Given the description of an element on the screen output the (x, y) to click on. 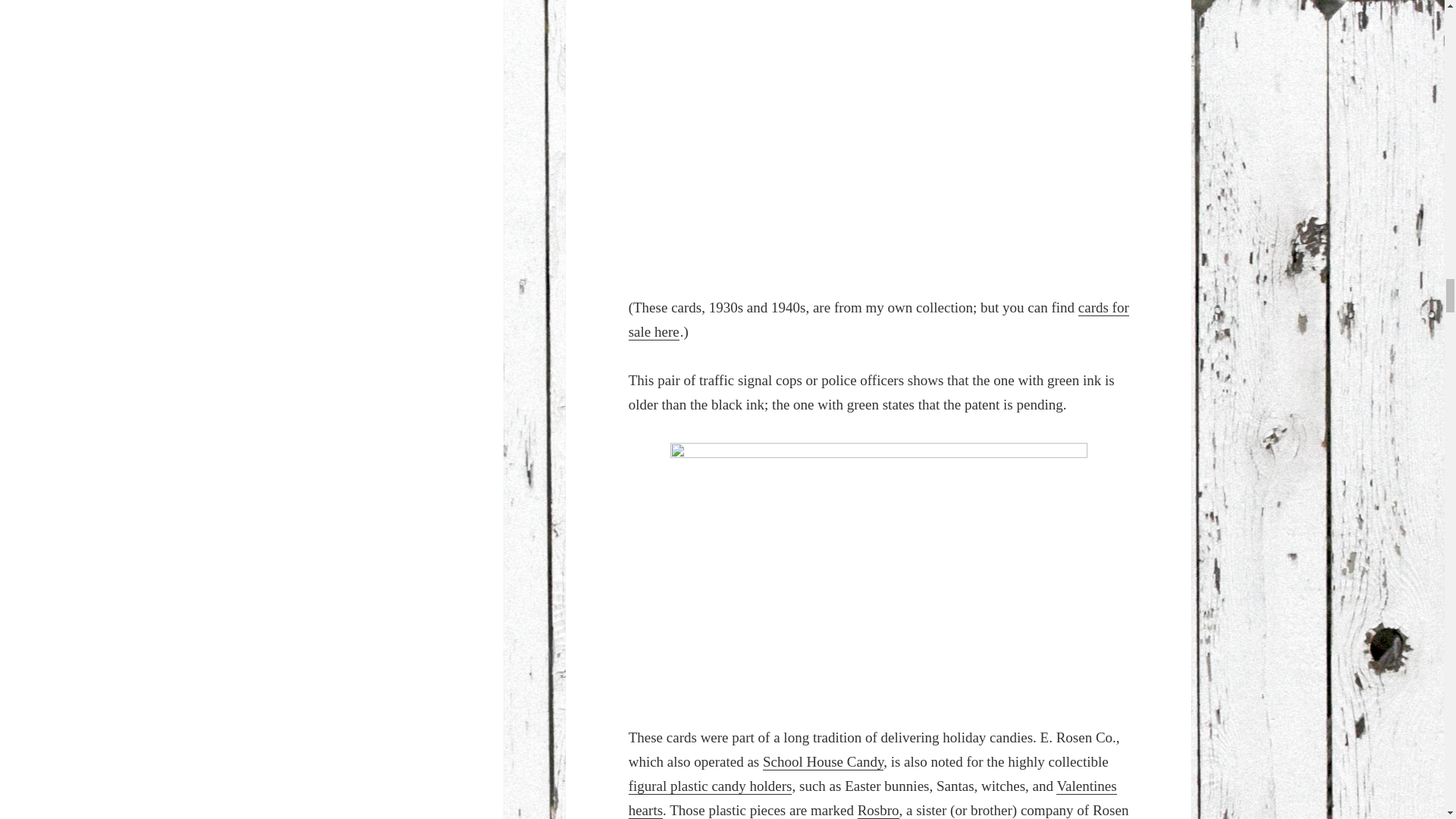
vintage sucker rosen valentine artist (878, 135)
vintage e rosen co valentine pop cards (878, 571)
